Given the description of an element on the screen output the (x, y) to click on. 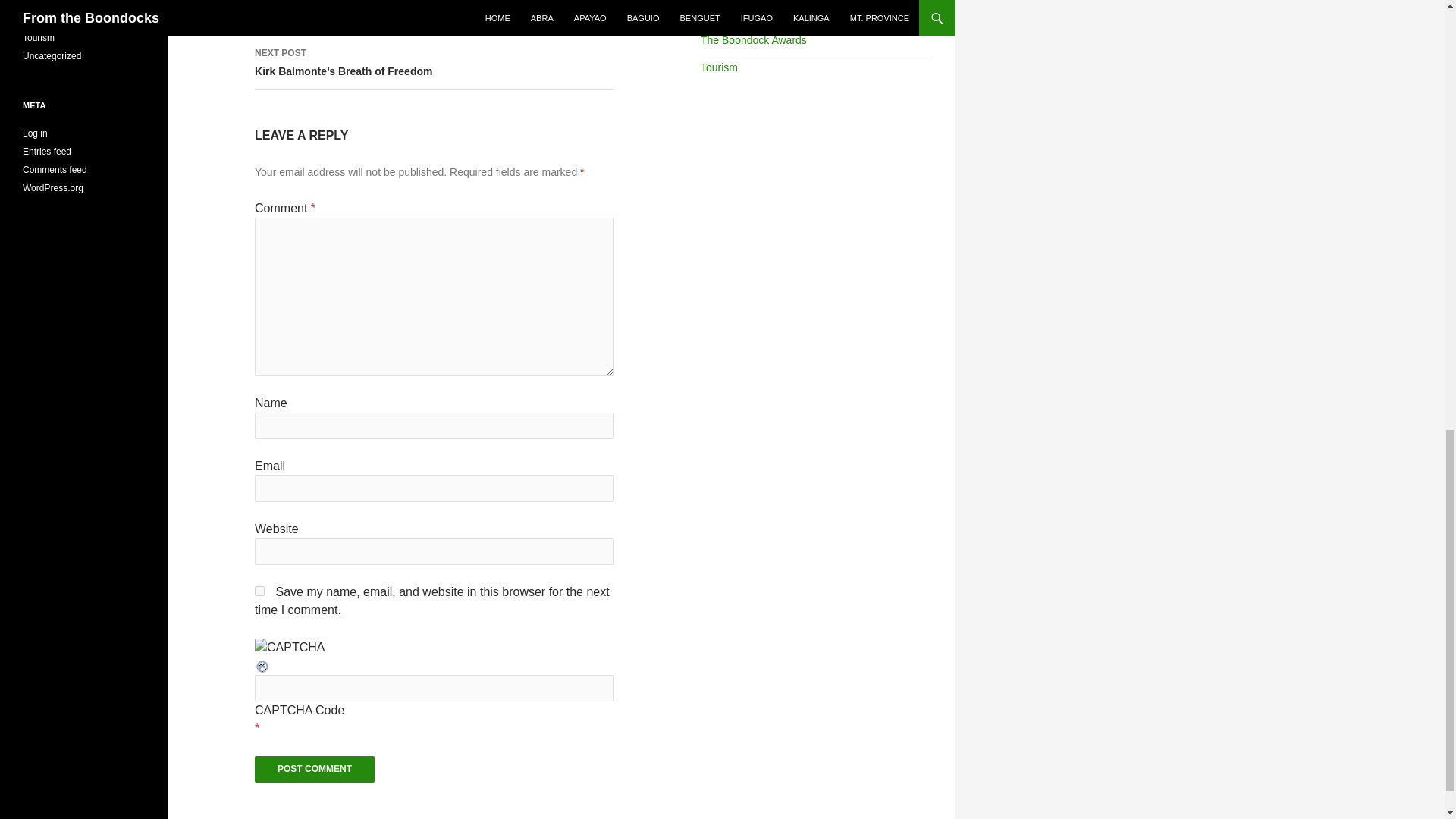
yes (259, 591)
CAPTCHA (289, 647)
Refresh (262, 665)
Post Comment (314, 768)
Post Comment (314, 768)
